Given the description of an element on the screen output the (x, y) to click on. 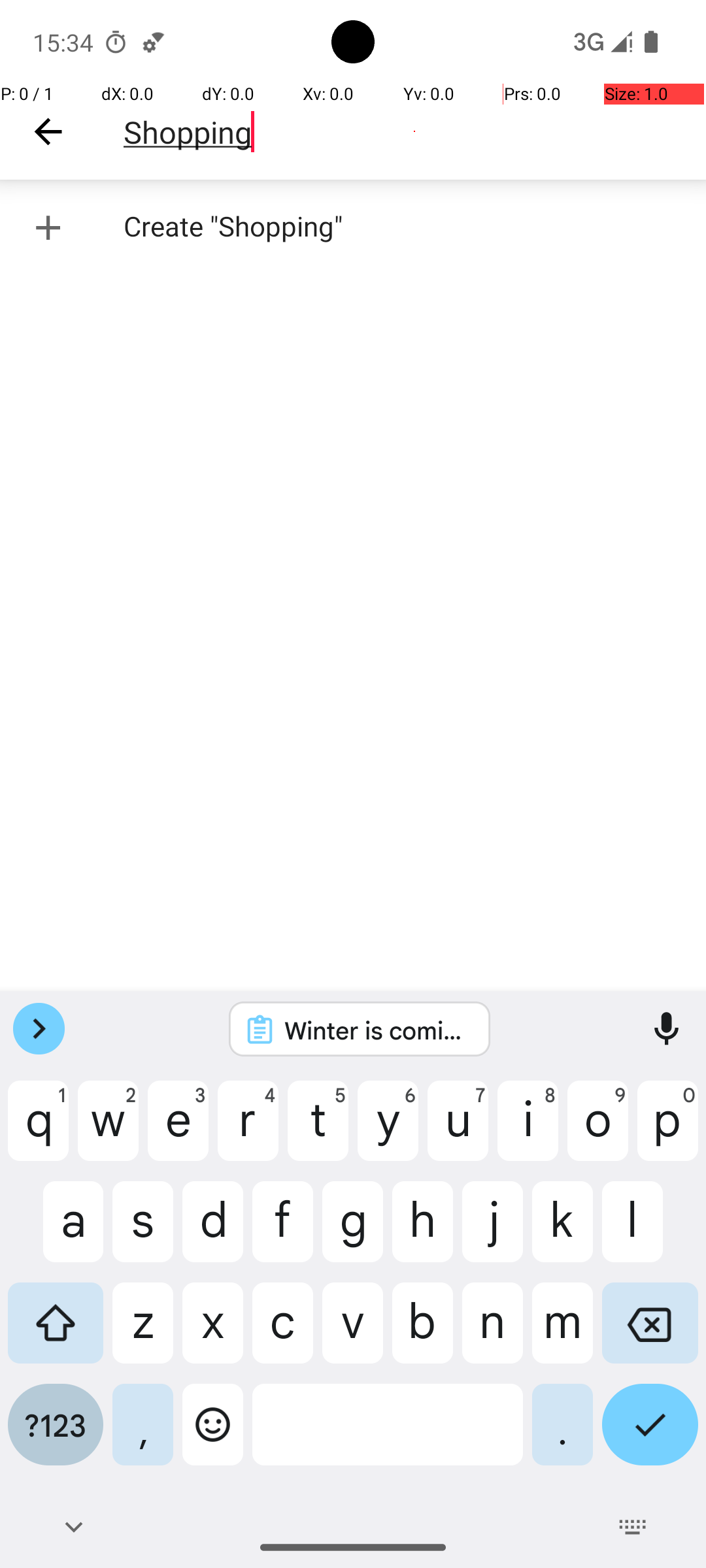
Shopping Element type: android.widget.EditText (414, 131)
Create "Shopping" Element type: android.widget.TextView (353, 227)
Winter is coming. Element type: android.widget.TextView (376, 1029)
